Given the description of an element on the screen output the (x, y) to click on. 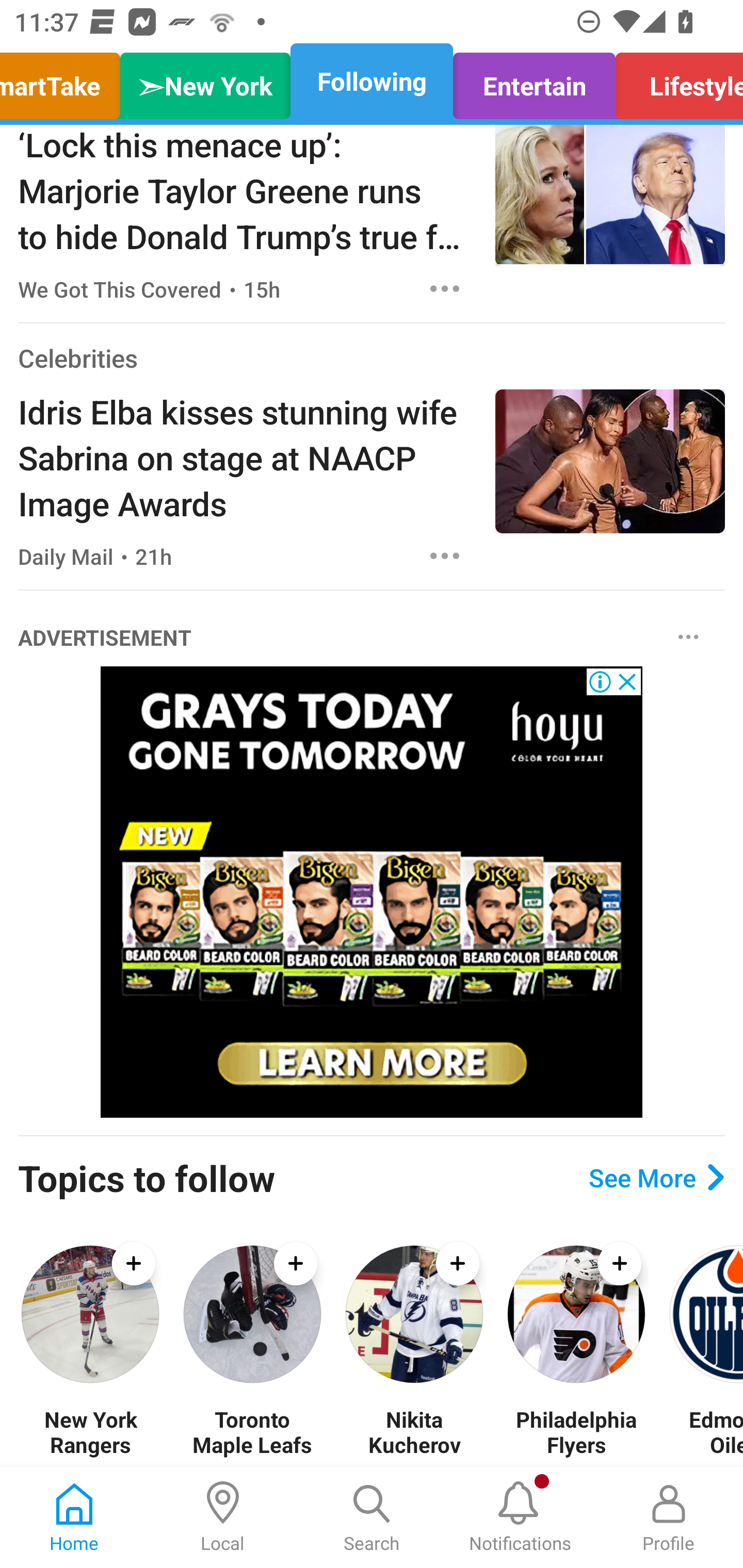
➣New York (205, 81)
Following (371, 81)
Entertain (534, 81)
Options (444, 288)
Celebrities (77, 357)
Options (444, 555)
Options (688, 637)
28 (371, 891)
See More (656, 1177)
New York Rangers (89, 1431)
Toronto Maple Leafs (251, 1431)
Nikita Kucherov (413, 1431)
Philadelphia Flyers (575, 1431)
Local (222, 1517)
Search (371, 1517)
Notifications, New notification Notifications (519, 1517)
Profile (668, 1517)
